Given the description of an element on the screen output the (x, y) to click on. 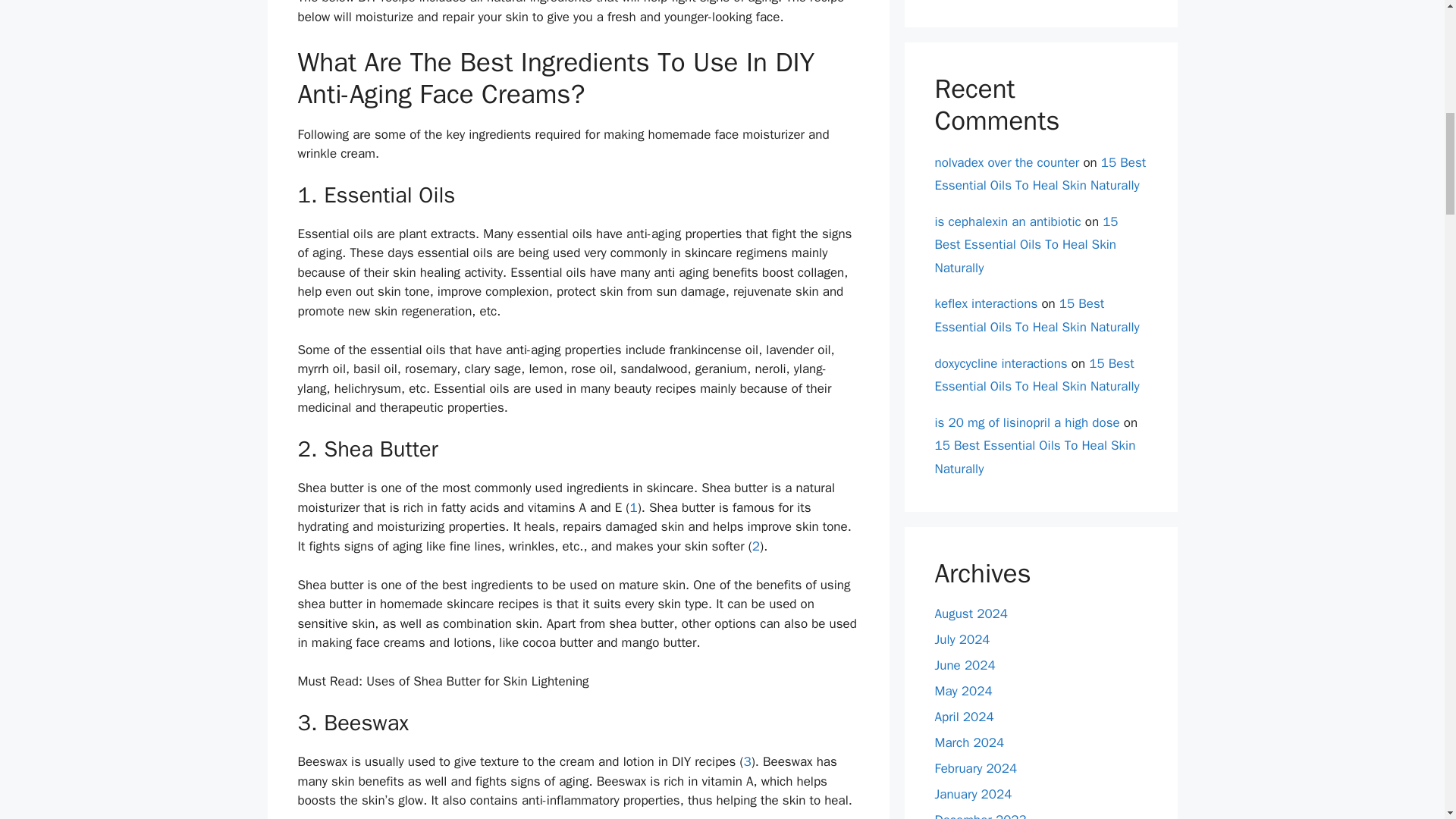
15 Best Essential Oils To Heal Skin Naturally (1039, 174)
is cephalexin an antibiotic (1007, 221)
nolvadex over the counter (1006, 162)
